Given the description of an element on the screen output the (x, y) to click on. 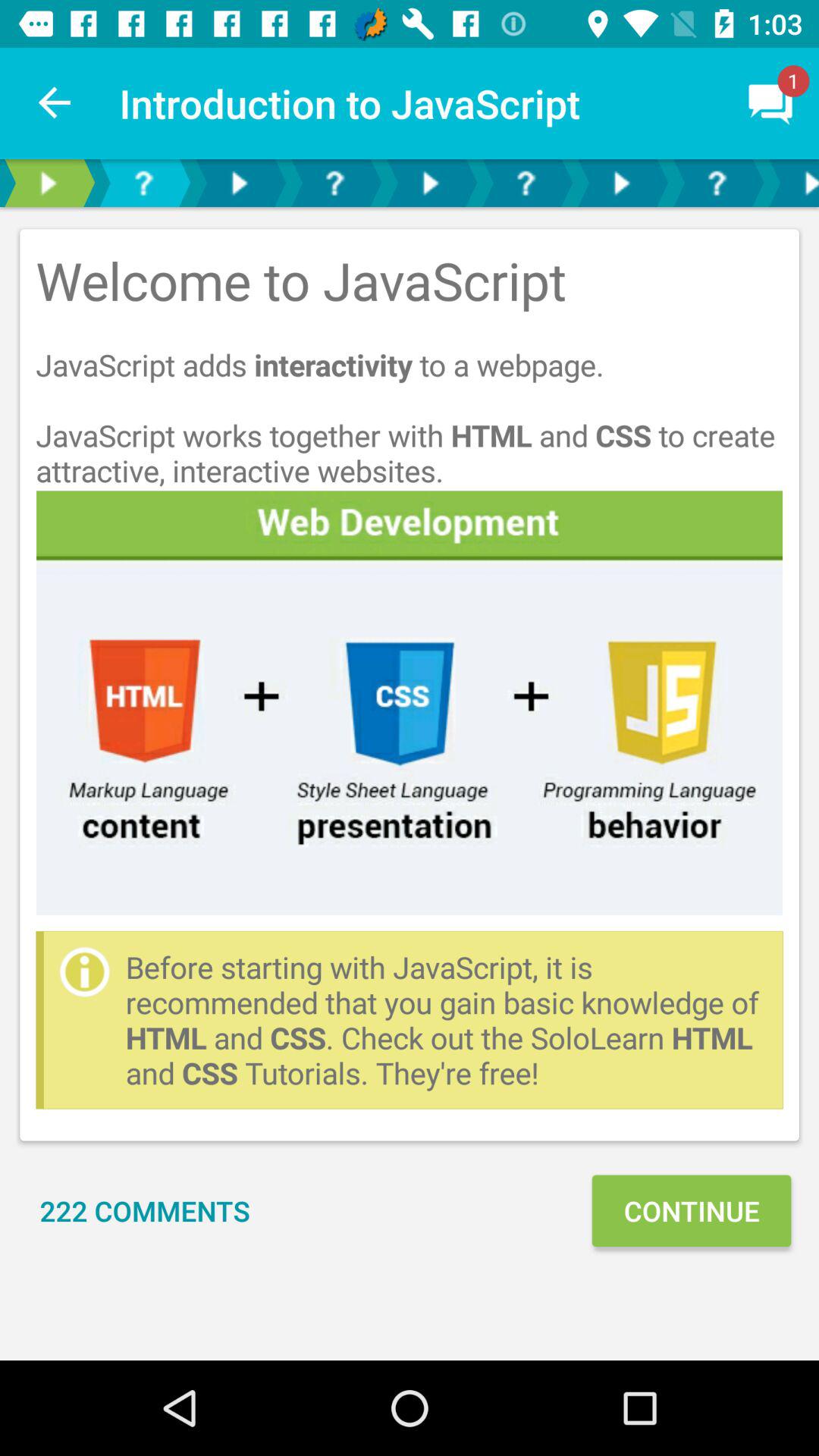
get help (334, 183)
